Given the description of an element on the screen output the (x, y) to click on. 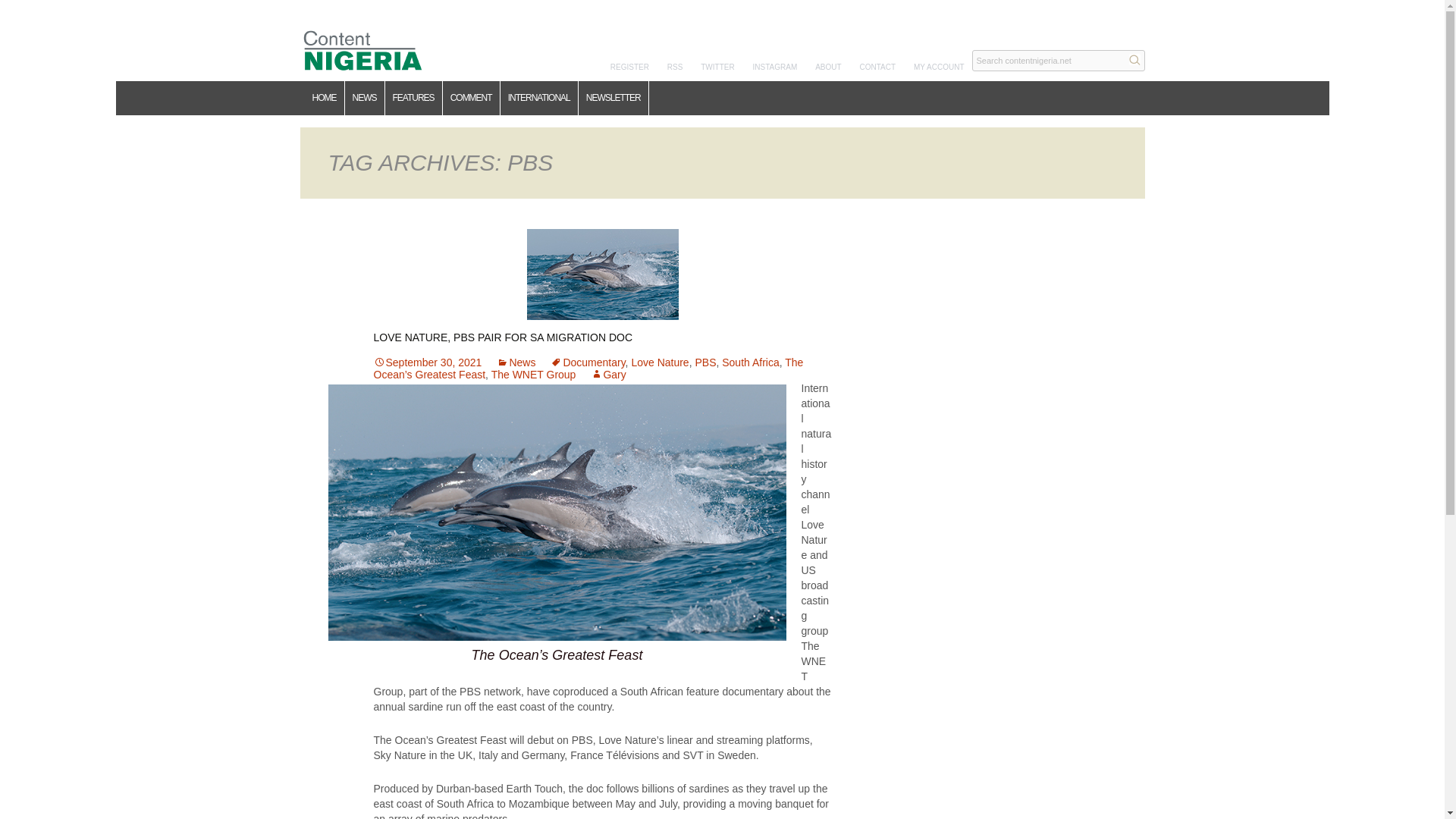
Love Nature (659, 362)
MY ACCOUNT (938, 67)
Search (1134, 59)
View all posts by Gary (608, 374)
PBS (705, 362)
FEATURES (413, 98)
REGISTER (629, 67)
Search for: (1058, 60)
LOVE NATURE, PBS PAIR FOR SA MIGRATION DOC (501, 337)
Gary (608, 374)
